Given the description of an element on the screen output the (x, y) to click on. 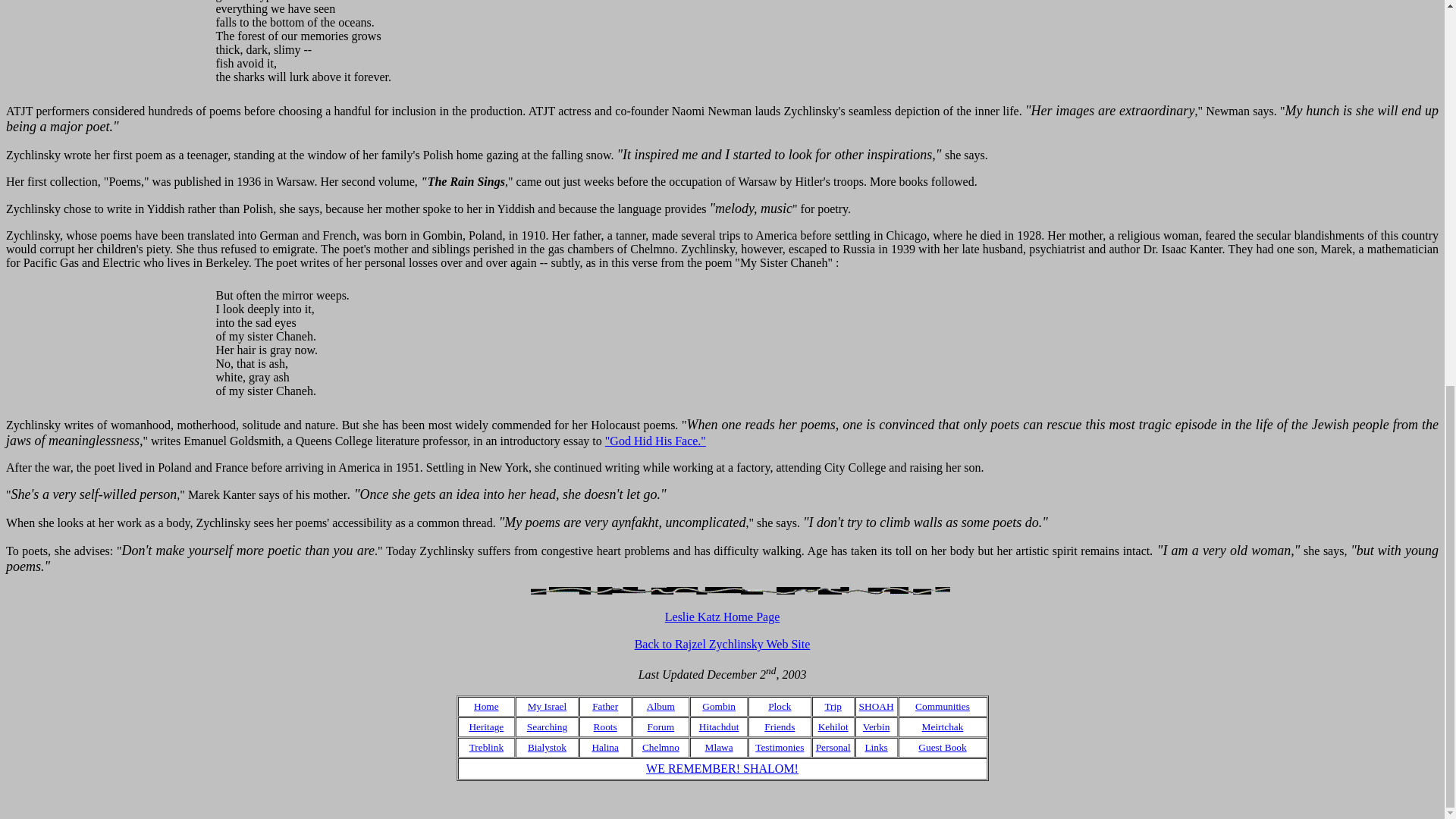
Roots (605, 725)
Testimonies (779, 746)
Father (604, 705)
Hitachdut (718, 725)
Meirtchak (942, 725)
Heritage (485, 725)
Guest Book (942, 746)
WE REMEMBER! SHALOM! (721, 768)
Communities (942, 705)
Friends (779, 725)
